Given the description of an element on the screen output the (x, y) to click on. 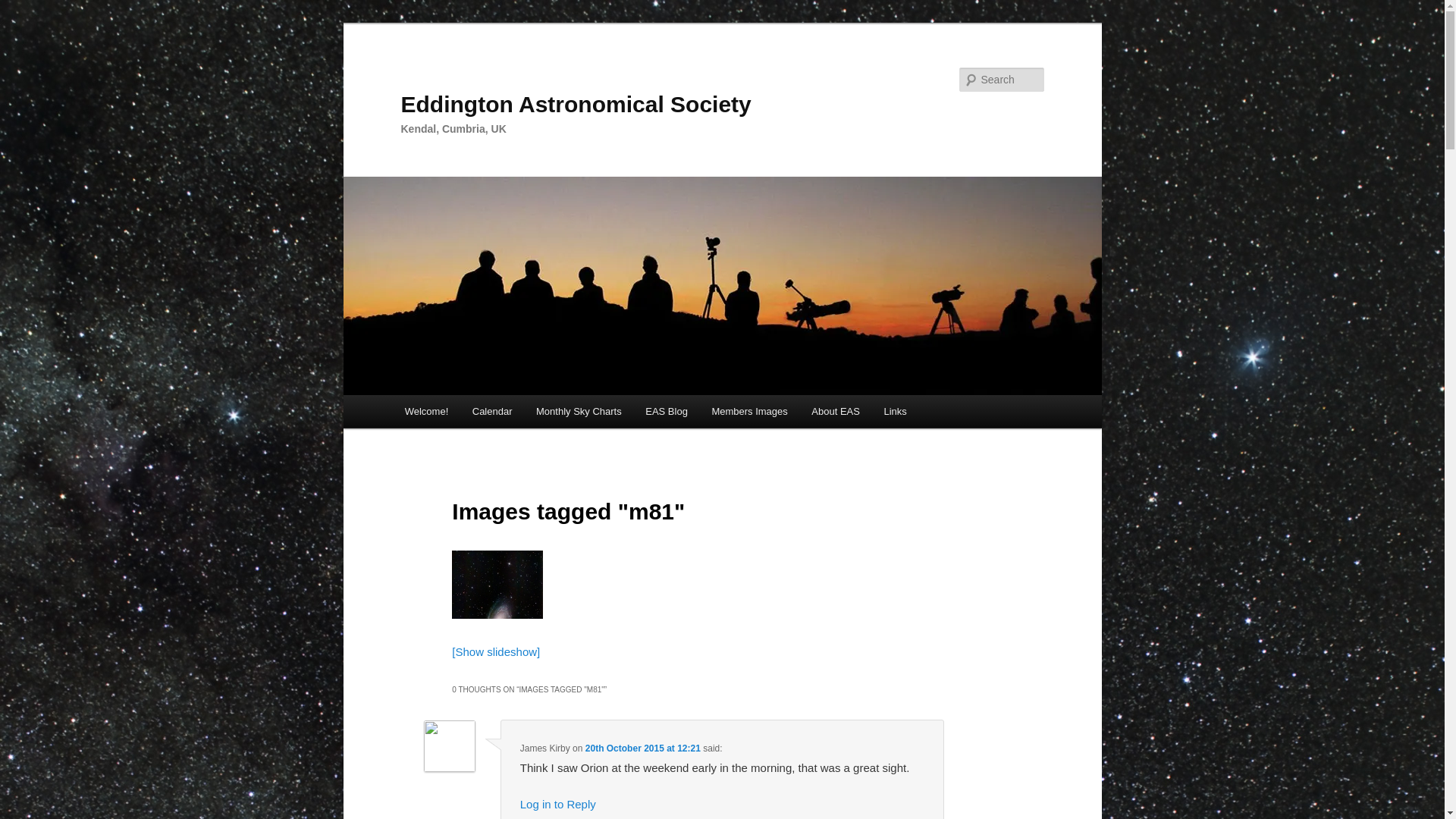
Monthly Sky Charts (578, 410)
Log in to Reply (557, 803)
Search (24, 8)
Members Images (749, 410)
Welcome! (426, 410)
Links (895, 410)
About EAS (835, 410)
20th October 2015 at 12:21 (642, 747)
Eddington Astronomical Society (575, 104)
EAS Blog (665, 410)
Calendar (492, 410)
